Given the description of an element on the screen output the (x, y) to click on. 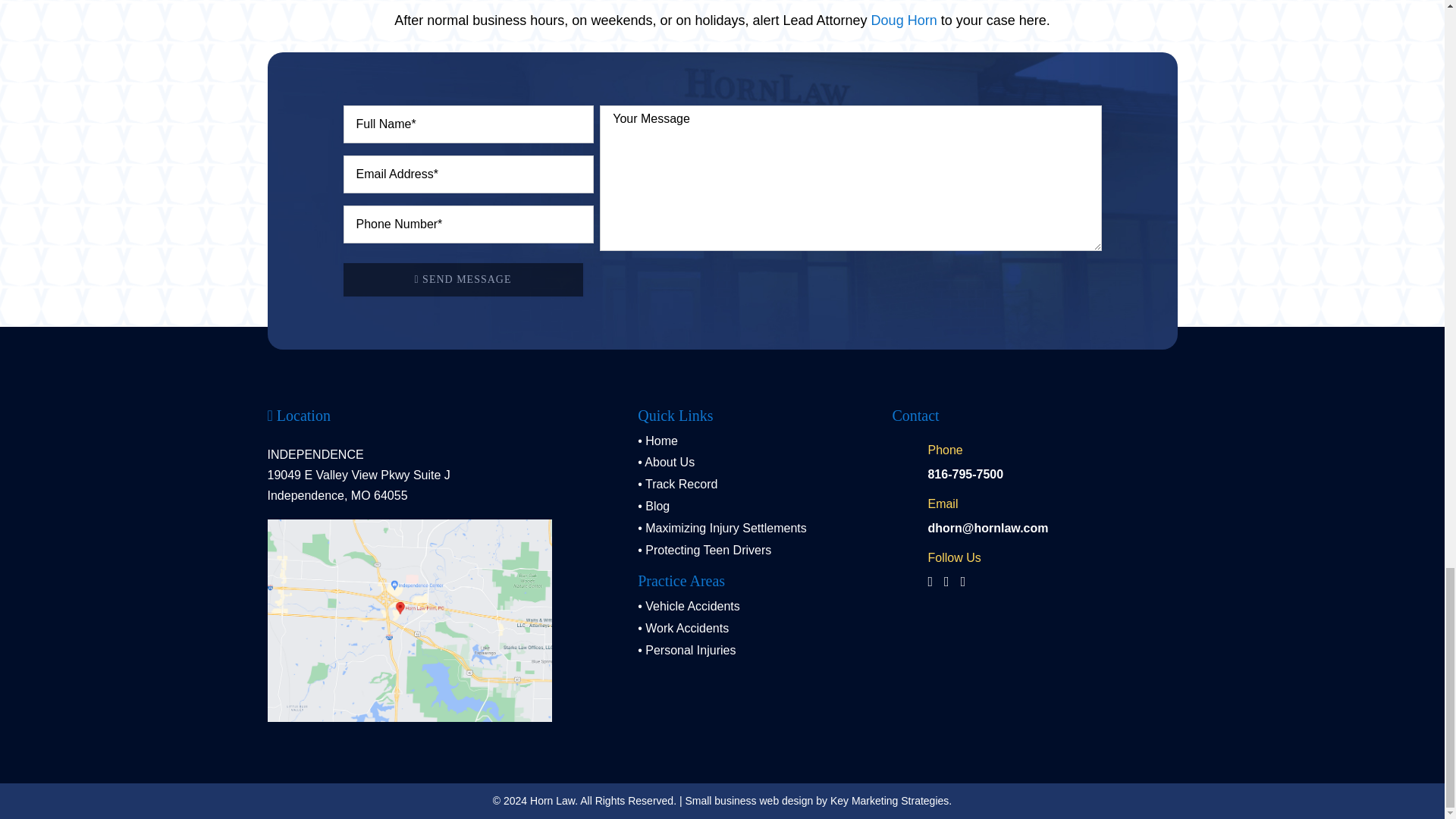
Independence (408, 620)
